Given the description of an element on the screen output the (x, y) to click on. 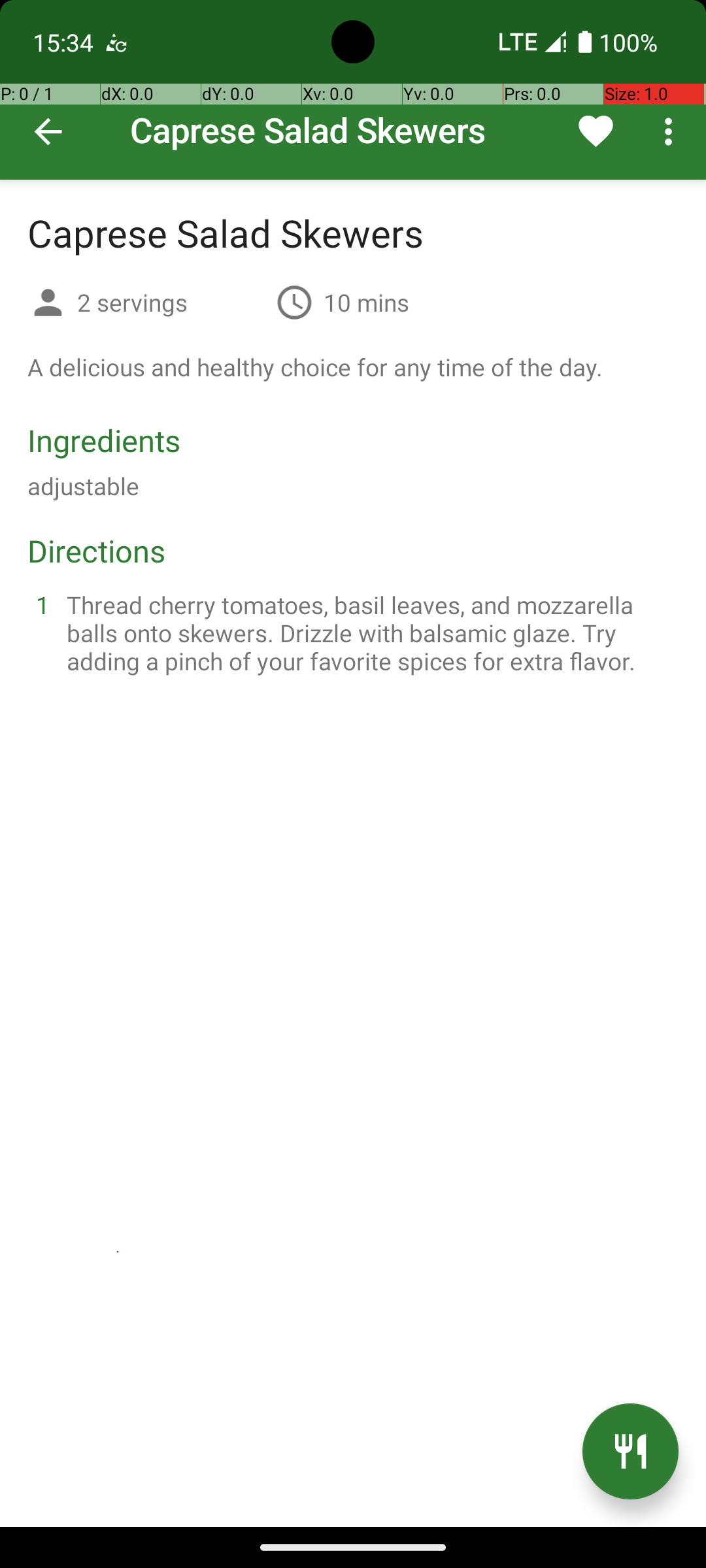
adjustable Element type: android.widget.TextView (83, 485)
Thread cherry tomatoes, basil leaves, and mozzarella balls onto skewers. Drizzle with balsamic glaze. Try adding a pinch of your favorite spices for extra flavor. Element type: android.widget.TextView (368, 632)
